Given the description of an element on the screen output the (x, y) to click on. 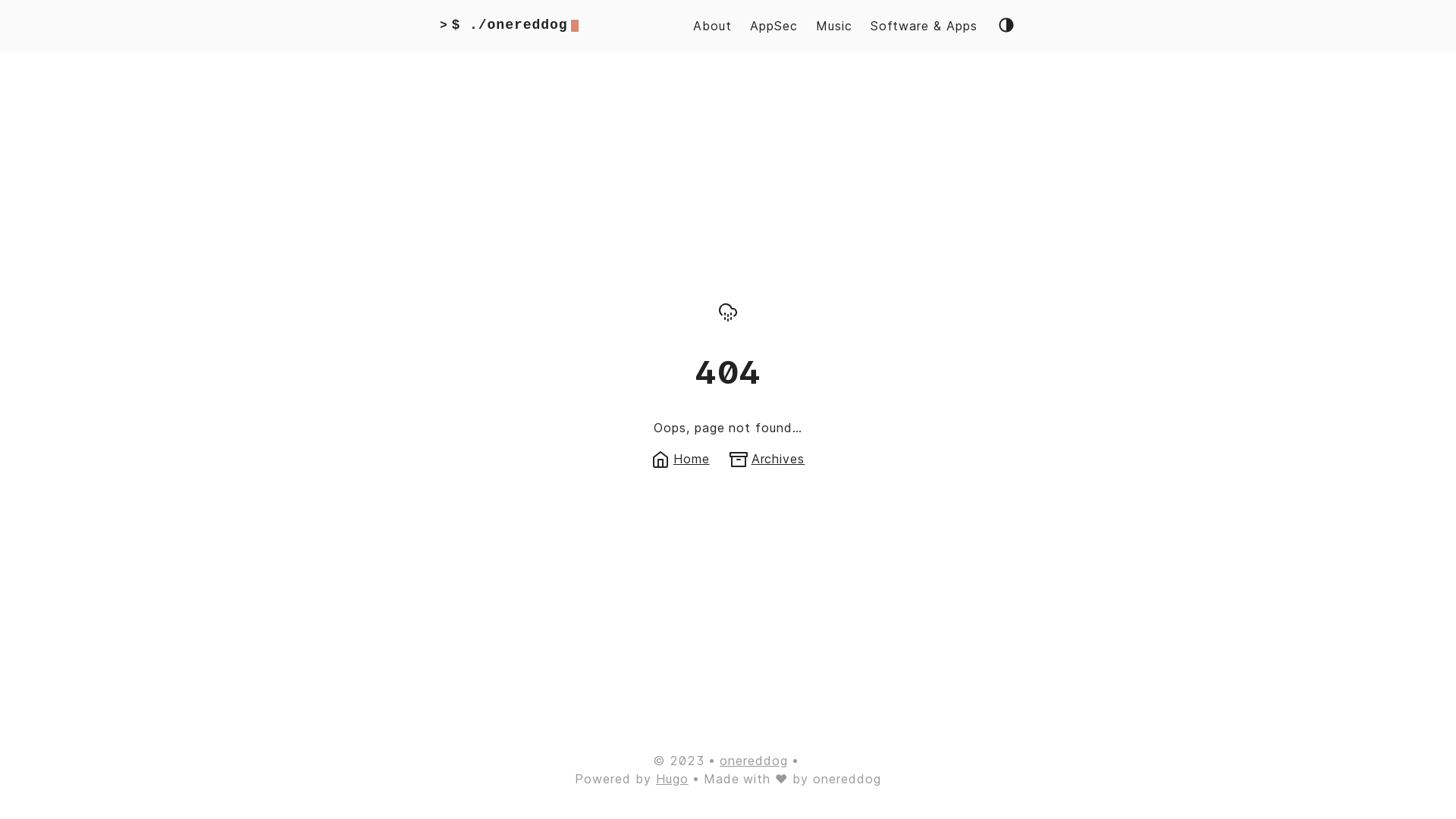
Music Element type: text (833, 25)
Software & Apps Element type: text (923, 25)
>
$ ./onereddog Element type: text (508, 25)
Hugo Element type: text (671, 778)
onereddog Element type: text (753, 760)
About Element type: text (712, 25)
Home Element type: text (680, 457)
Archives Element type: text (767, 457)
AppSec Element type: text (773, 25)
